Given the description of an element on the screen output the (x, y) to click on. 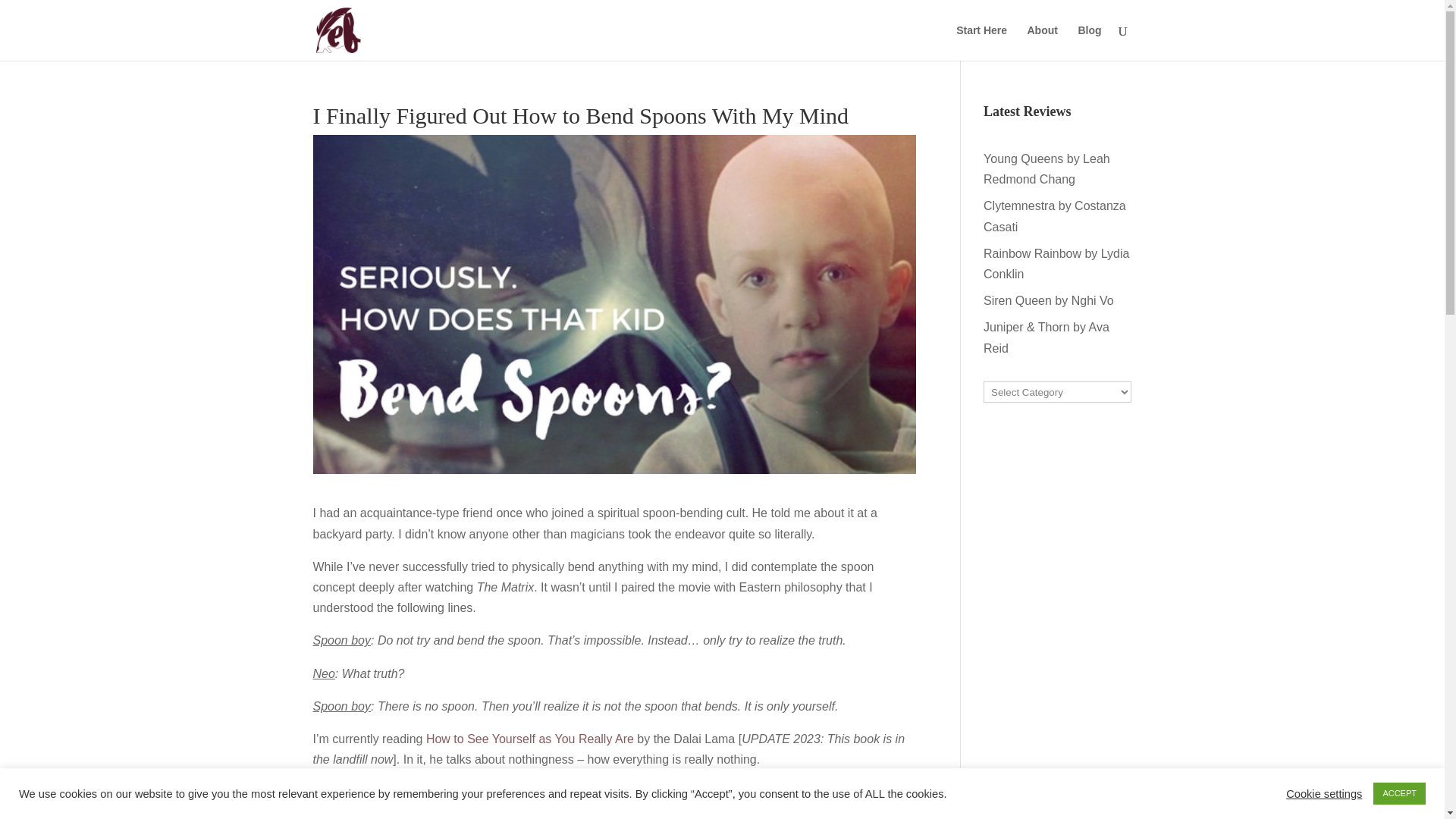
Rainbow Rainbow by Lydia Conklin (1056, 263)
Clytemnestra by Costanza Casati (1054, 215)
Siren Queen by Nghi Vo (1048, 300)
How to See Yourself as You Really Are (529, 738)
ACCEPT (1399, 793)
Start Here (981, 42)
Young Queens by Leah Redmond Chang (1046, 168)
Cookie settings (1323, 793)
